Given the description of an element on the screen output the (x, y) to click on. 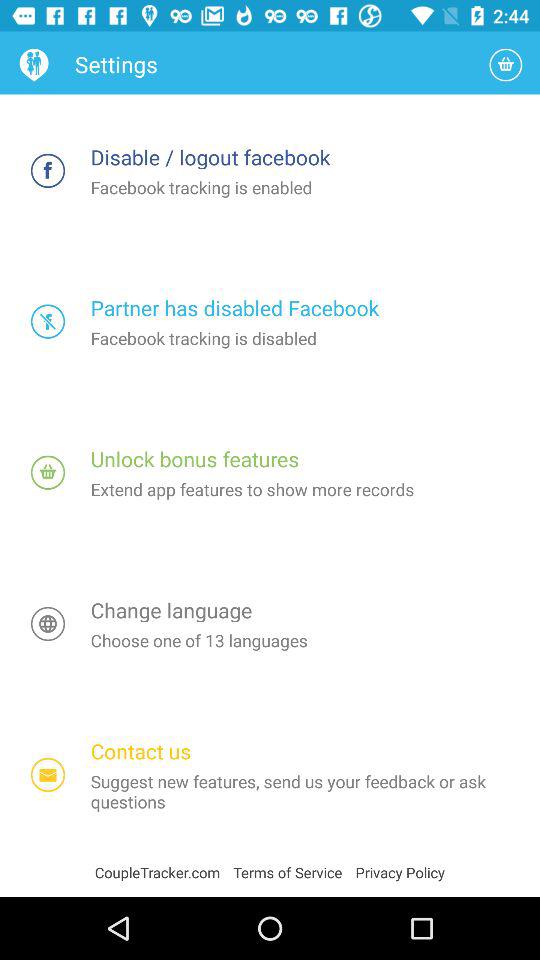
go to shopping basket (505, 64)
